Given the description of an element on the screen output the (x, y) to click on. 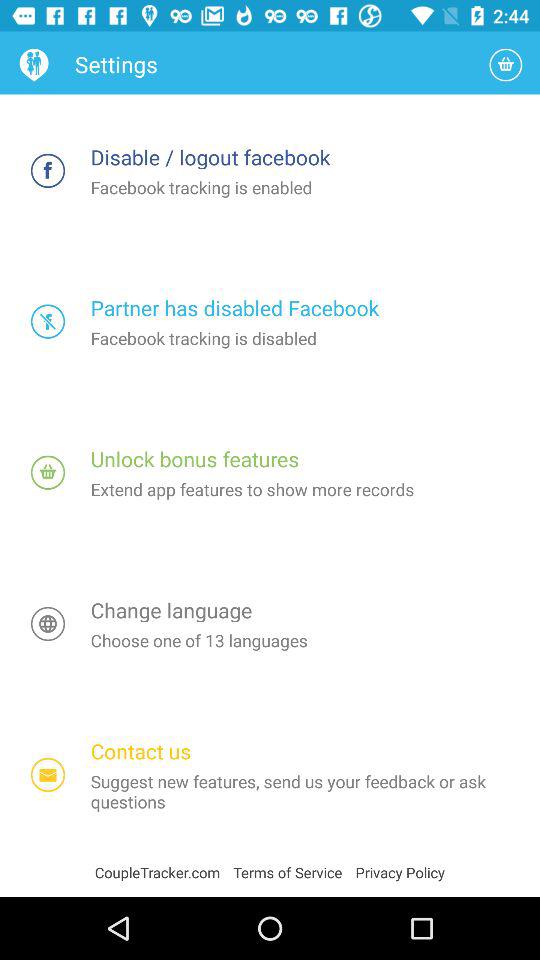
go to shopping basket (505, 64)
